Given the description of an element on the screen output the (x, y) to click on. 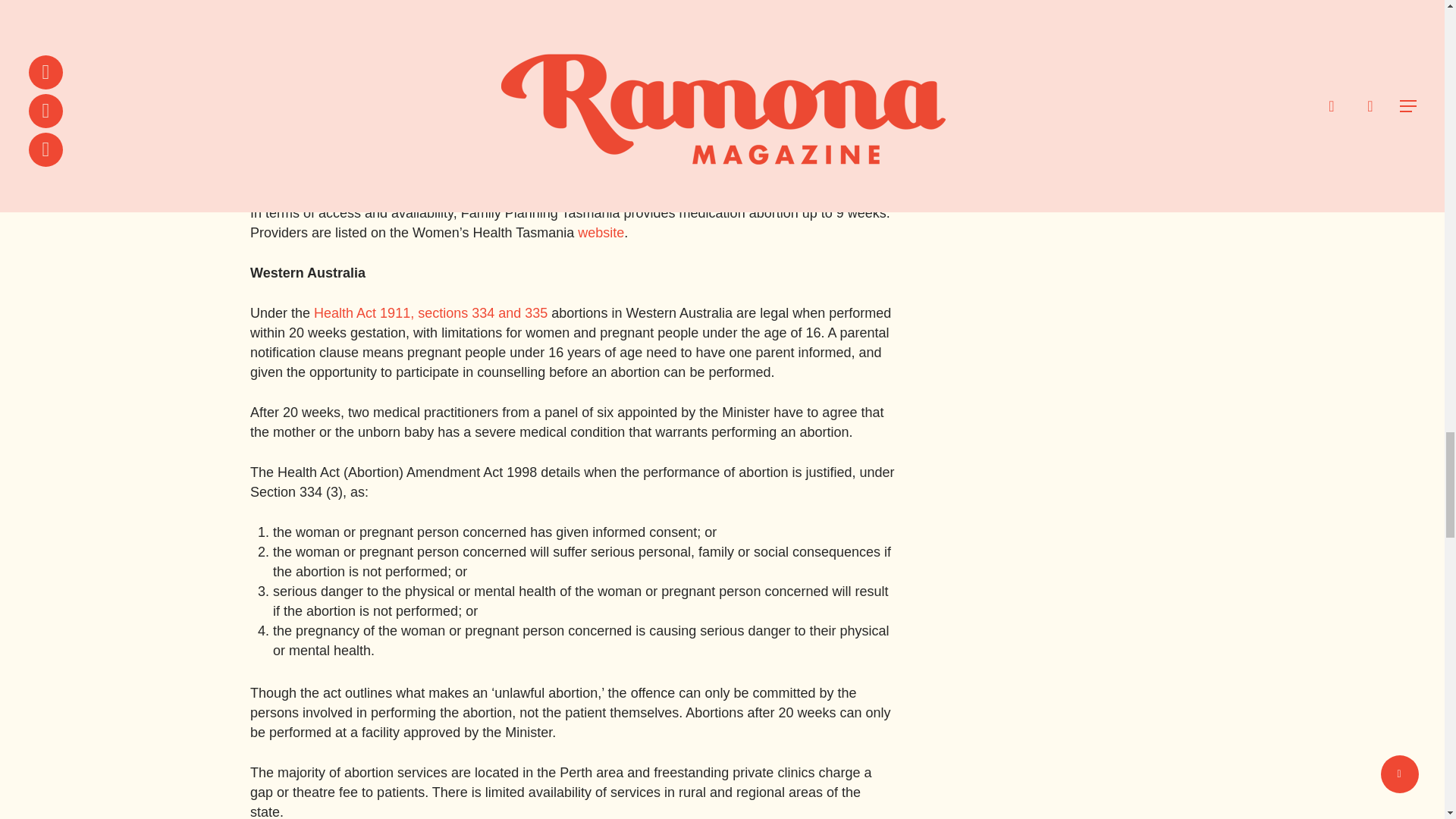
website (601, 232)
Health Act 1911, sections 334 (404, 313)
and 335 (522, 313)
